Given the description of an element on the screen output the (x, y) to click on. 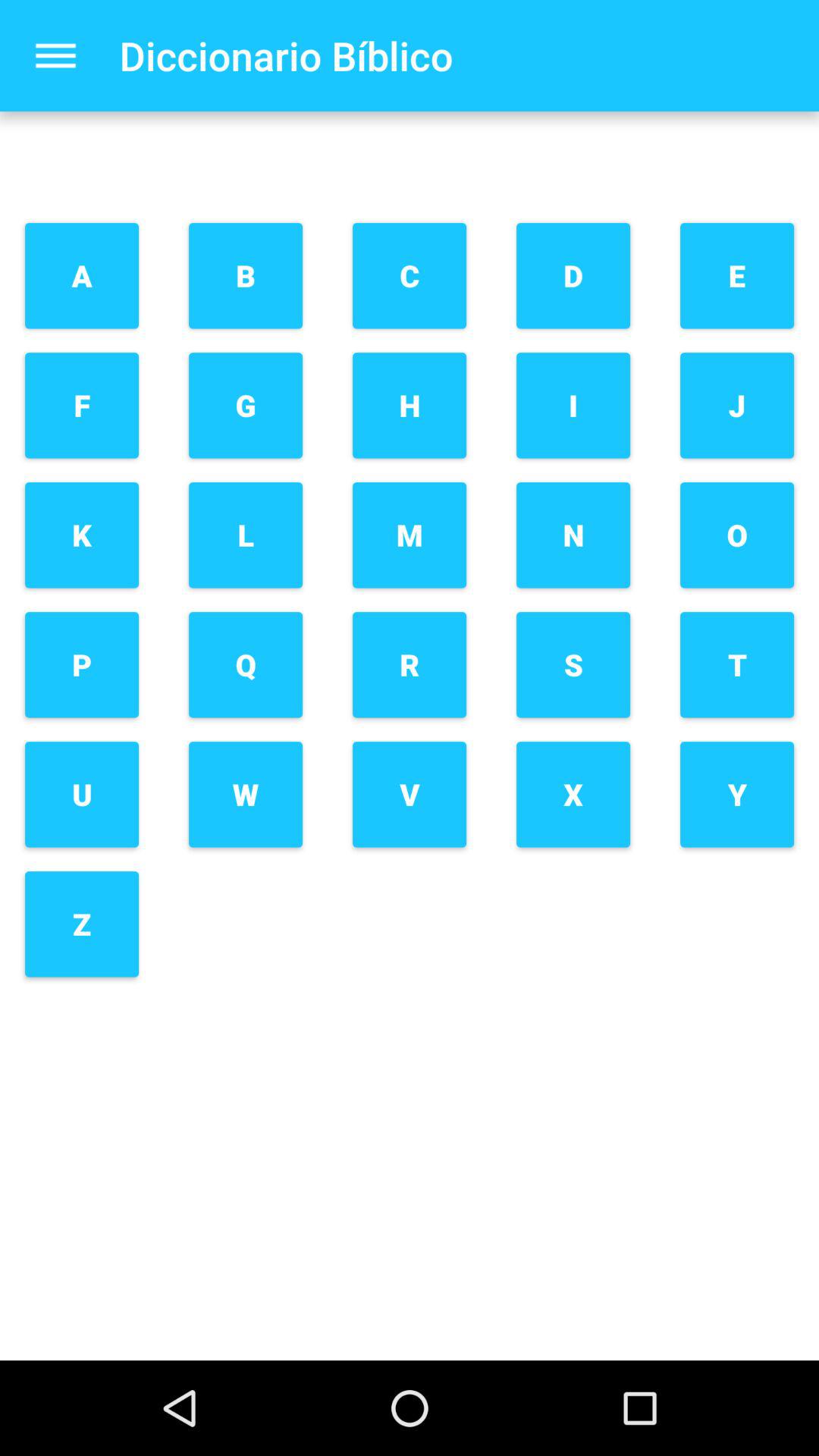
turn on i icon (573, 405)
